Given the description of an element on the screen output the (x, y) to click on. 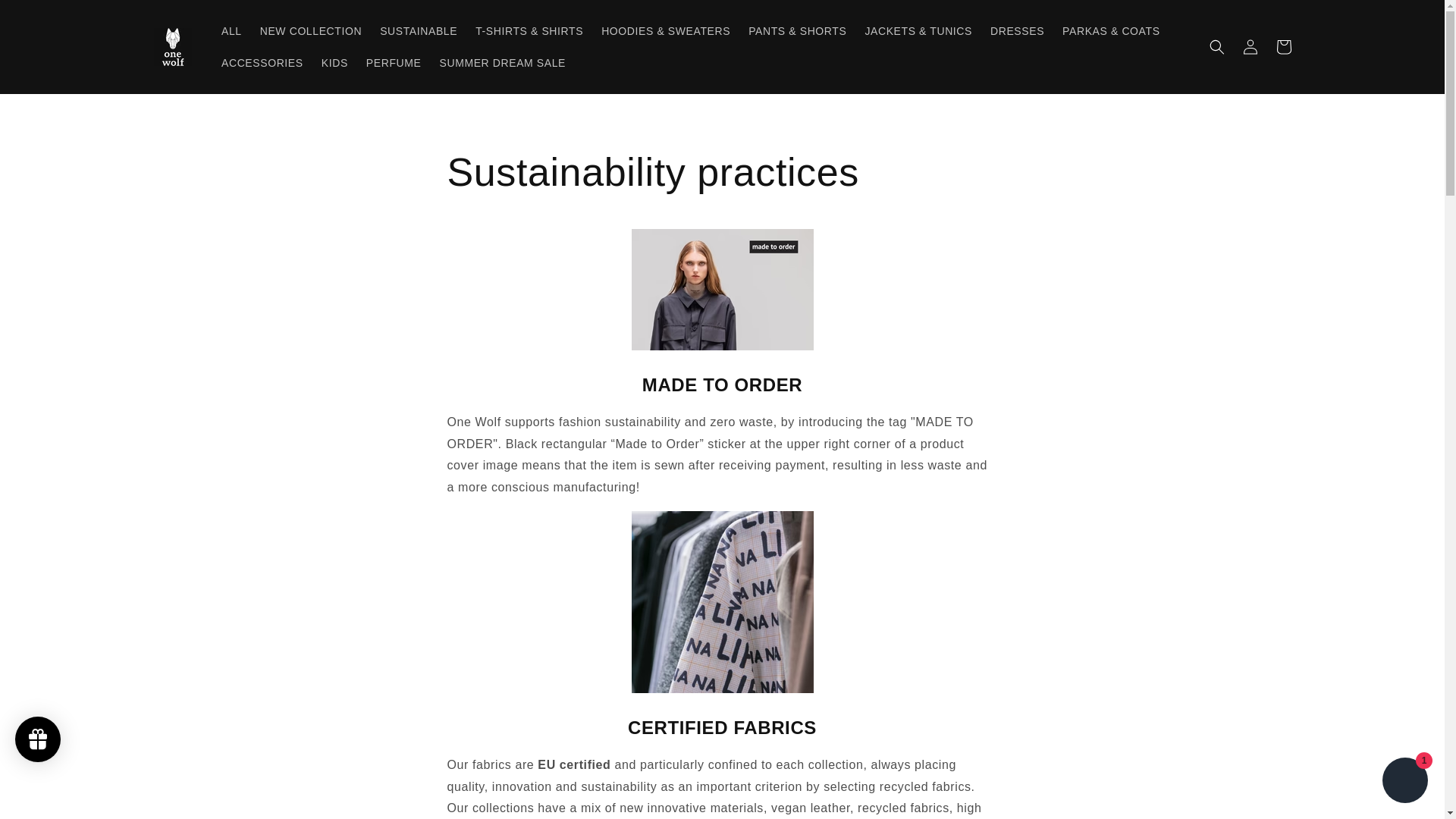
KIDS (334, 62)
SUMMER DREAM SALE (502, 62)
PERFUME (393, 62)
DRESSES (1016, 30)
ALL (231, 30)
Log in (1249, 46)
SUSTAINABLE (418, 30)
Cart (1283, 46)
NEW COLLECTION (310, 30)
Skip to content (45, 16)
ACCESSORIES (262, 62)
Shopify online store chat (1404, 781)
